Given the description of an element on the screen output the (x, y) to click on. 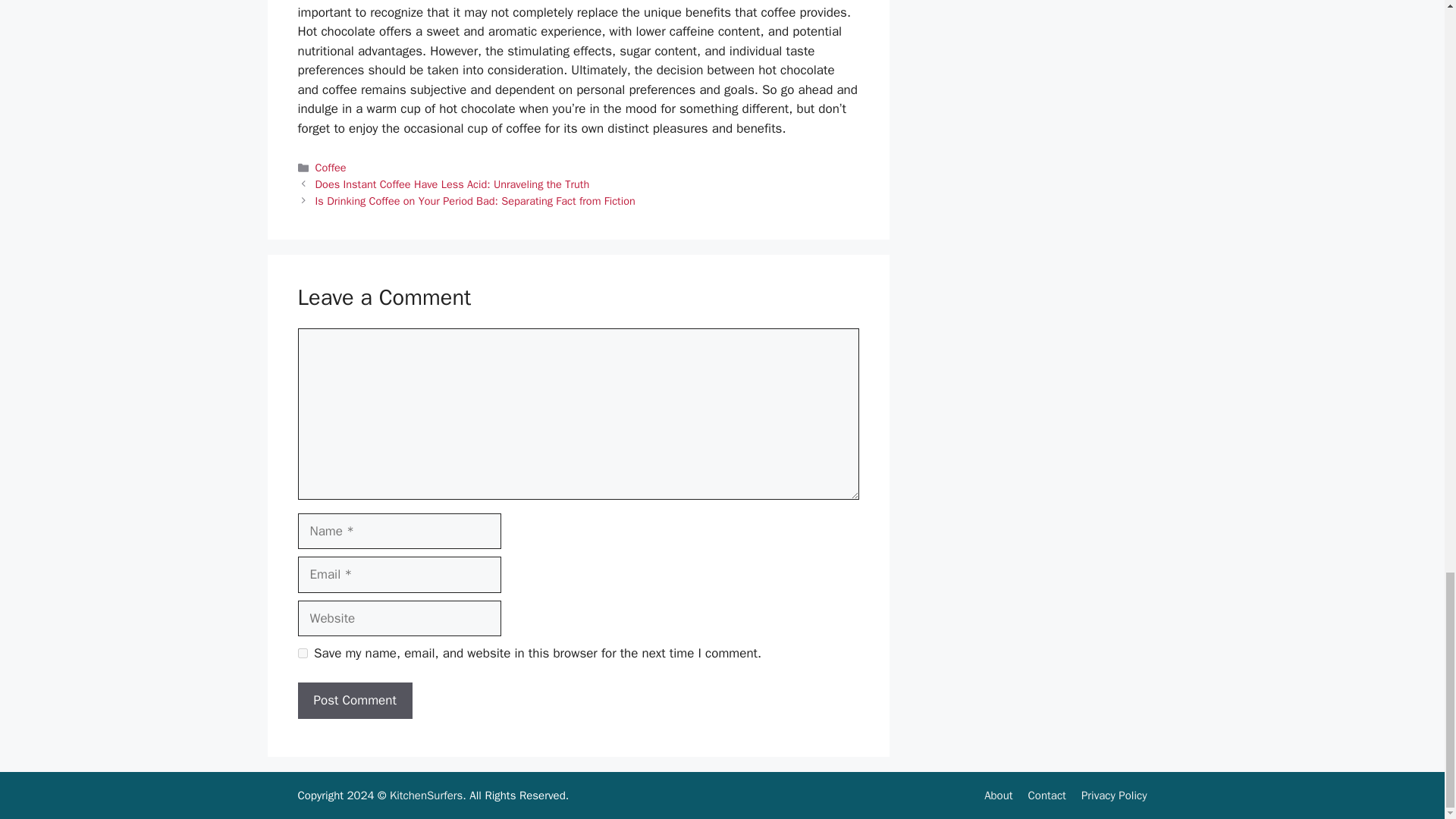
Post Comment (354, 700)
Post Comment (354, 700)
KitchenSurfers (426, 795)
yes (302, 653)
About (997, 795)
Privacy Policy (1114, 795)
Does Instant Coffee Have Less Acid: Unraveling the Truth (452, 183)
Contact (1046, 795)
Coffee (330, 167)
